Given the description of an element on the screen output the (x, y) to click on. 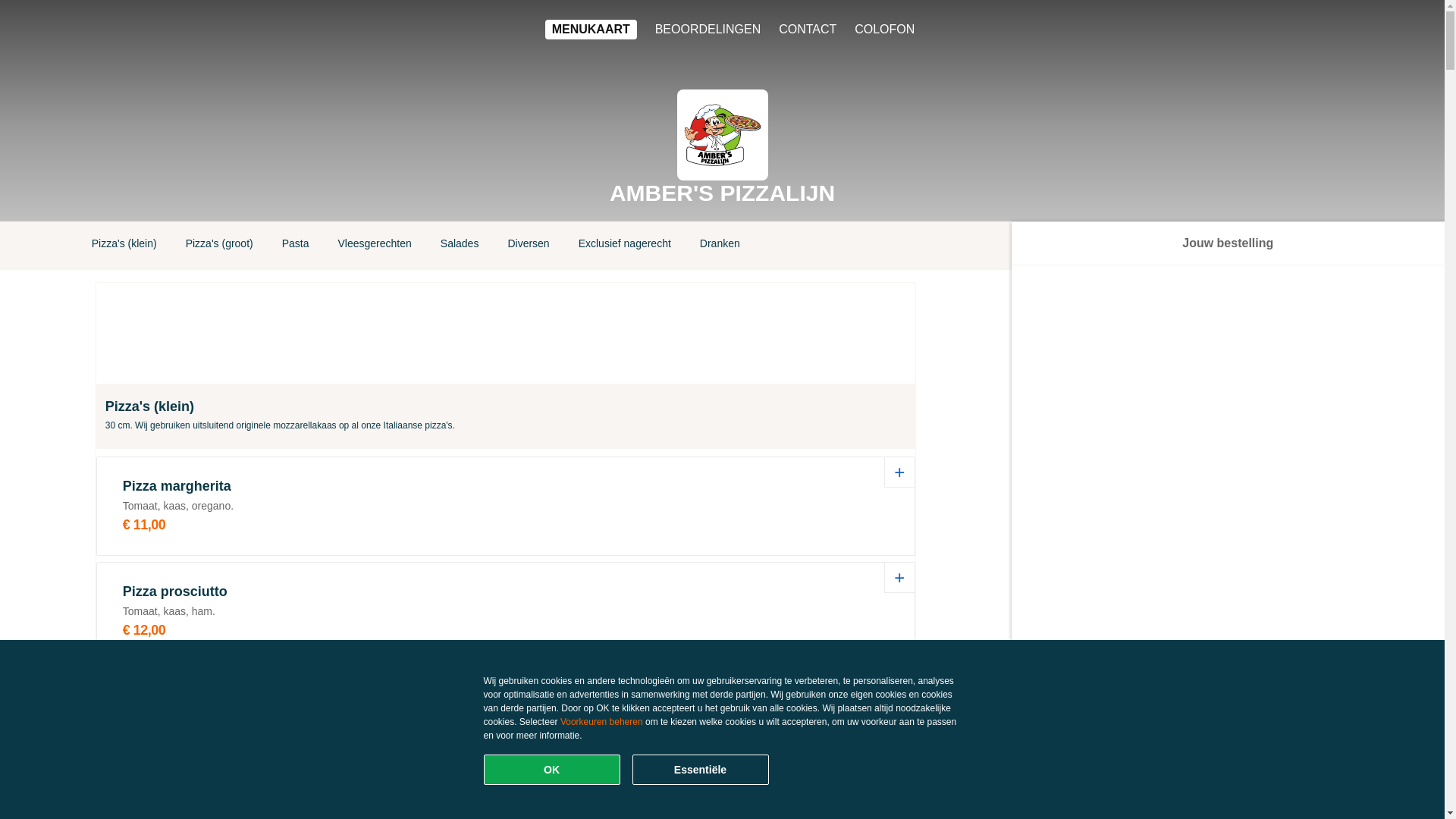
BEOORDELINGEN Element type: text (708, 29)
CONTACT Element type: text (807, 29)
Vleesgerechten Element type: text (374, 245)
MENUKAART Element type: text (591, 29)
Exclusief nagerecht Element type: text (624, 245)
Voorkeuren beheren Element type: text (601, 721)
COLOFON Element type: text (884, 29)
OK Element type: text (551, 769)
Pasta Element type: text (295, 245)
Pizza's (groot) Element type: text (219, 245)
Diversen Element type: text (527, 245)
Salades Element type: text (459, 245)
Pizza's (klein) Element type: text (124, 245)
Dranken Element type: text (719, 245)
